Given the description of an element on the screen output the (x, y) to click on. 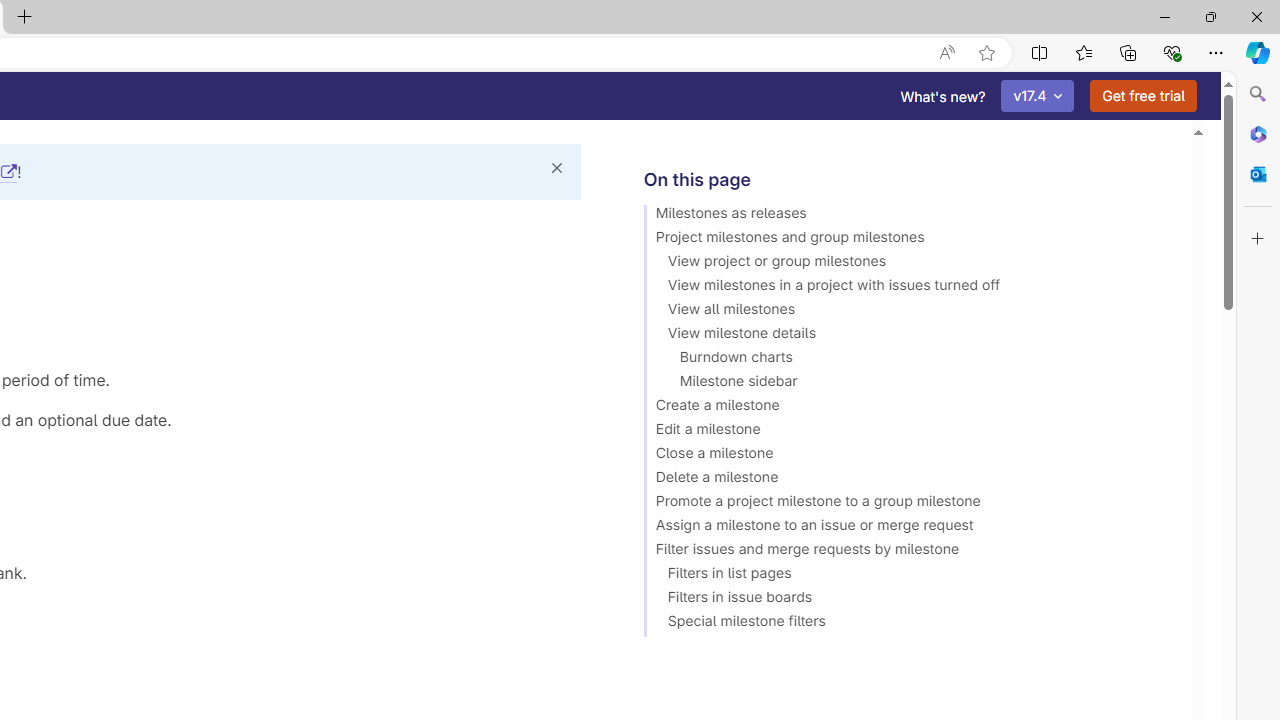
Delete a milestone (908, 480)
View all milestones (908, 312)
View project or group milestones (908, 264)
Get free trial (1143, 95)
Get free trial (1143, 95)
Project milestones and group milestones (908, 240)
Filters in issue boards (908, 600)
Close a milestone (908, 456)
Assign a milestone to an issue or merge request (908, 528)
Filters in list pages (908, 575)
View milestones in a project with issues turned off (908, 287)
